Given the description of an element on the screen output the (x, y) to click on. 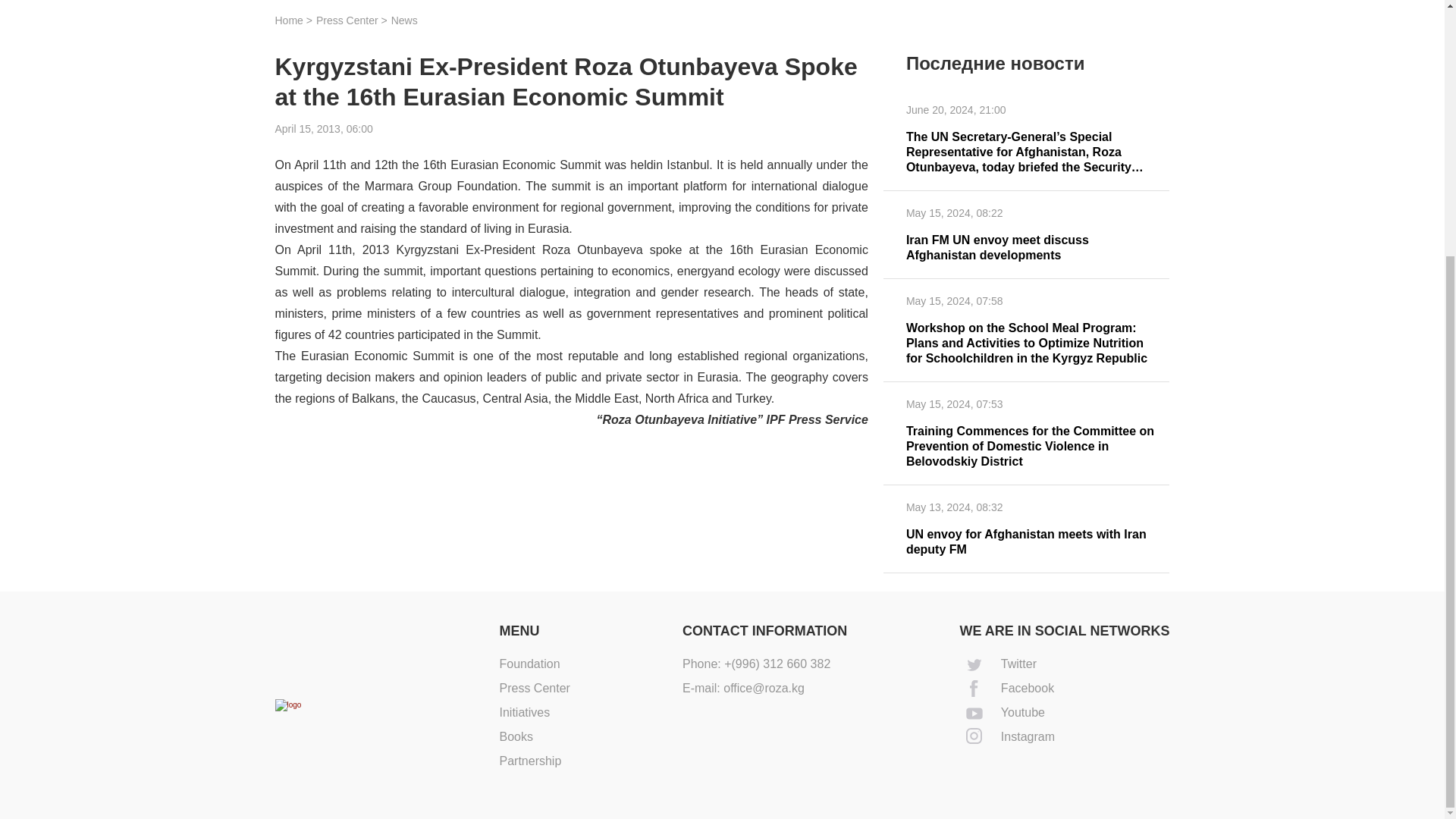
Press Center (534, 687)
Facebook (1064, 688)
Partnership (529, 760)
Instagram (1064, 736)
Initiatives (524, 712)
News (404, 20)
Youtube (1064, 712)
Foundation (529, 663)
Books (515, 736)
Twitter (1064, 663)
